Given the description of an element on the screen output the (x, y) to click on. 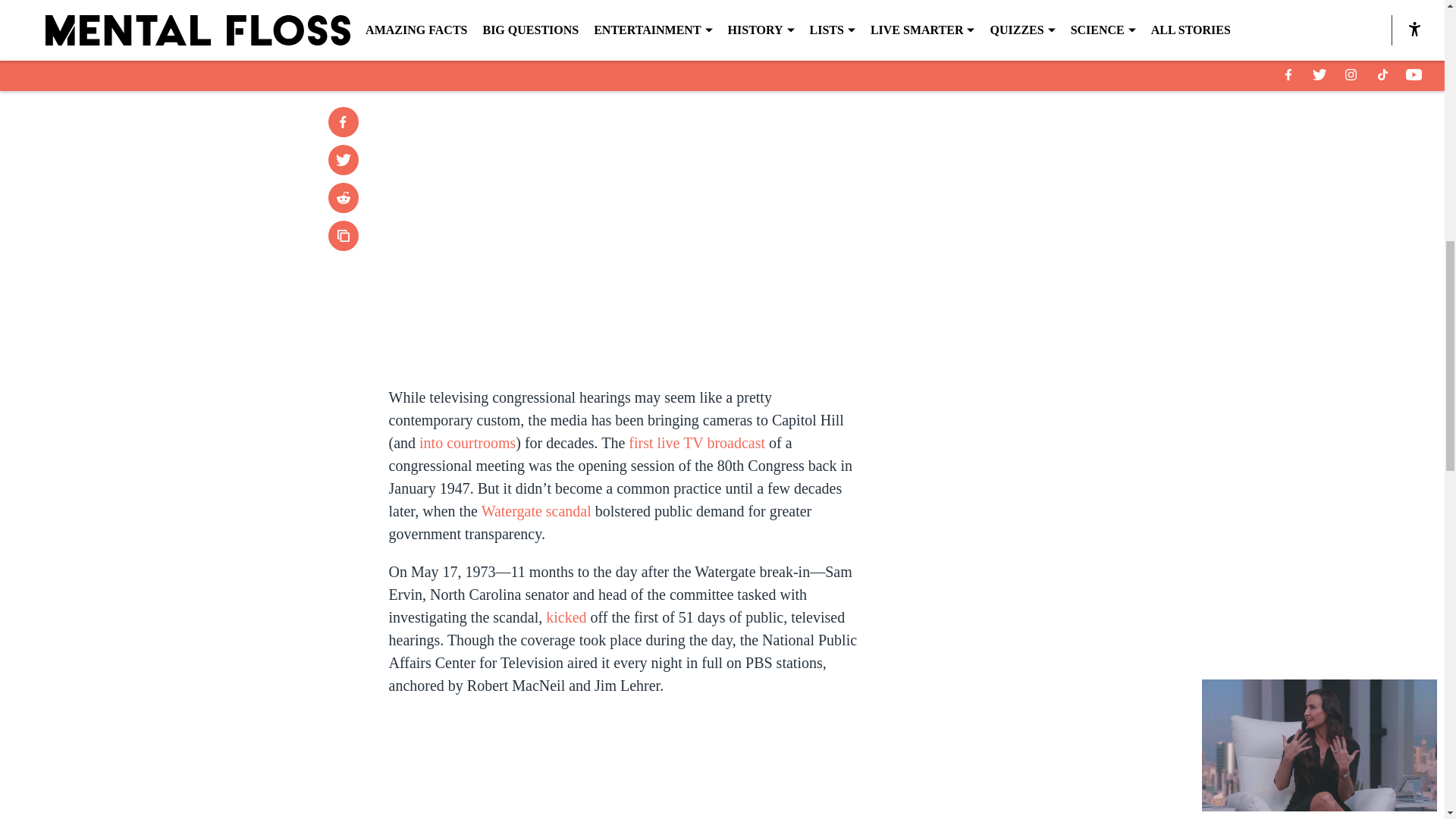
3rd party ad content (1047, 420)
3rd party ad content (1047, 200)
